Given the description of an element on the screen output the (x, y) to click on. 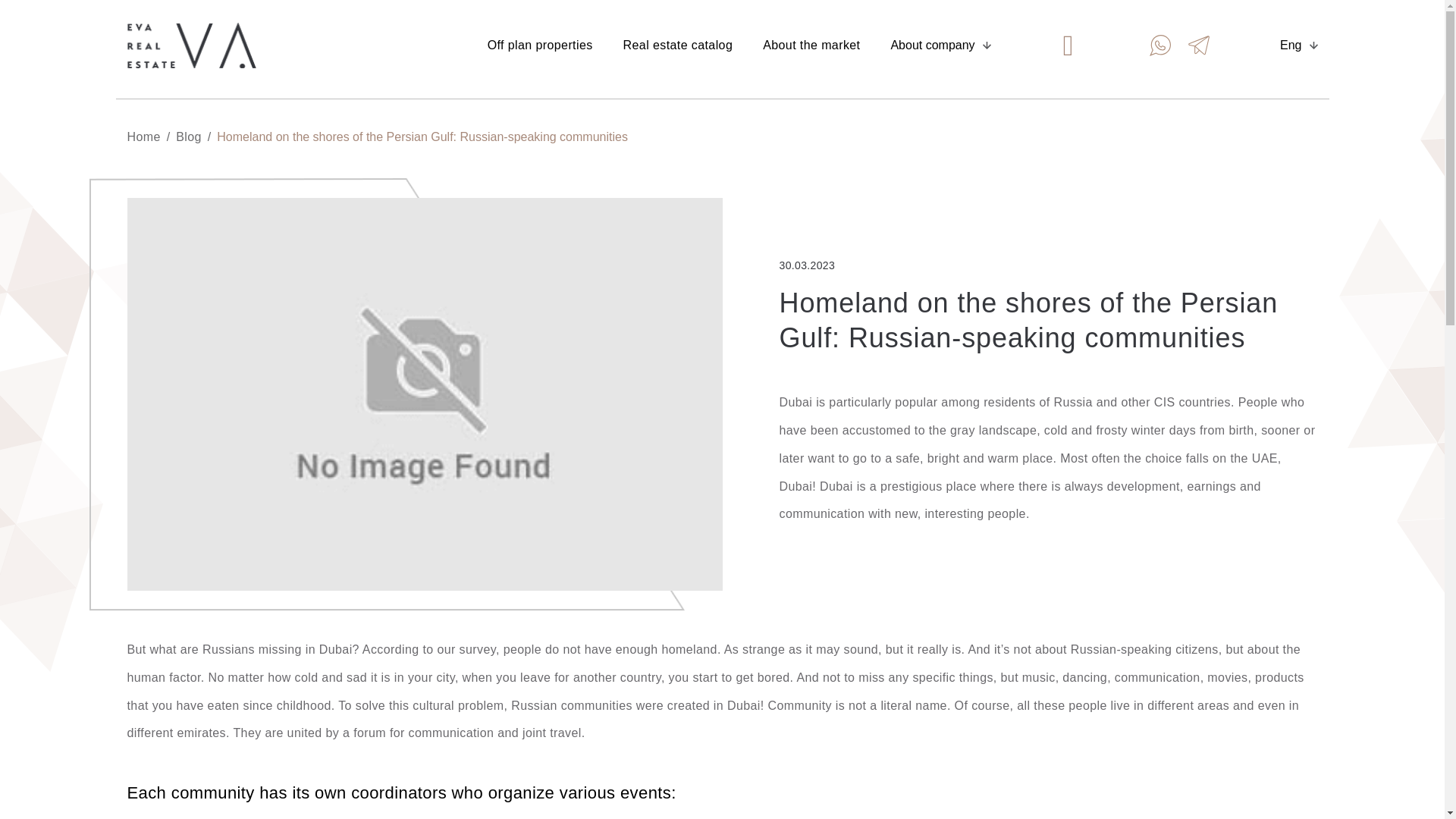
Off plan properties (539, 45)
About the market (811, 45)
Home (144, 137)
Blog (189, 137)
Real estate catalog (678, 45)
